Given the description of an element on the screen output the (x, y) to click on. 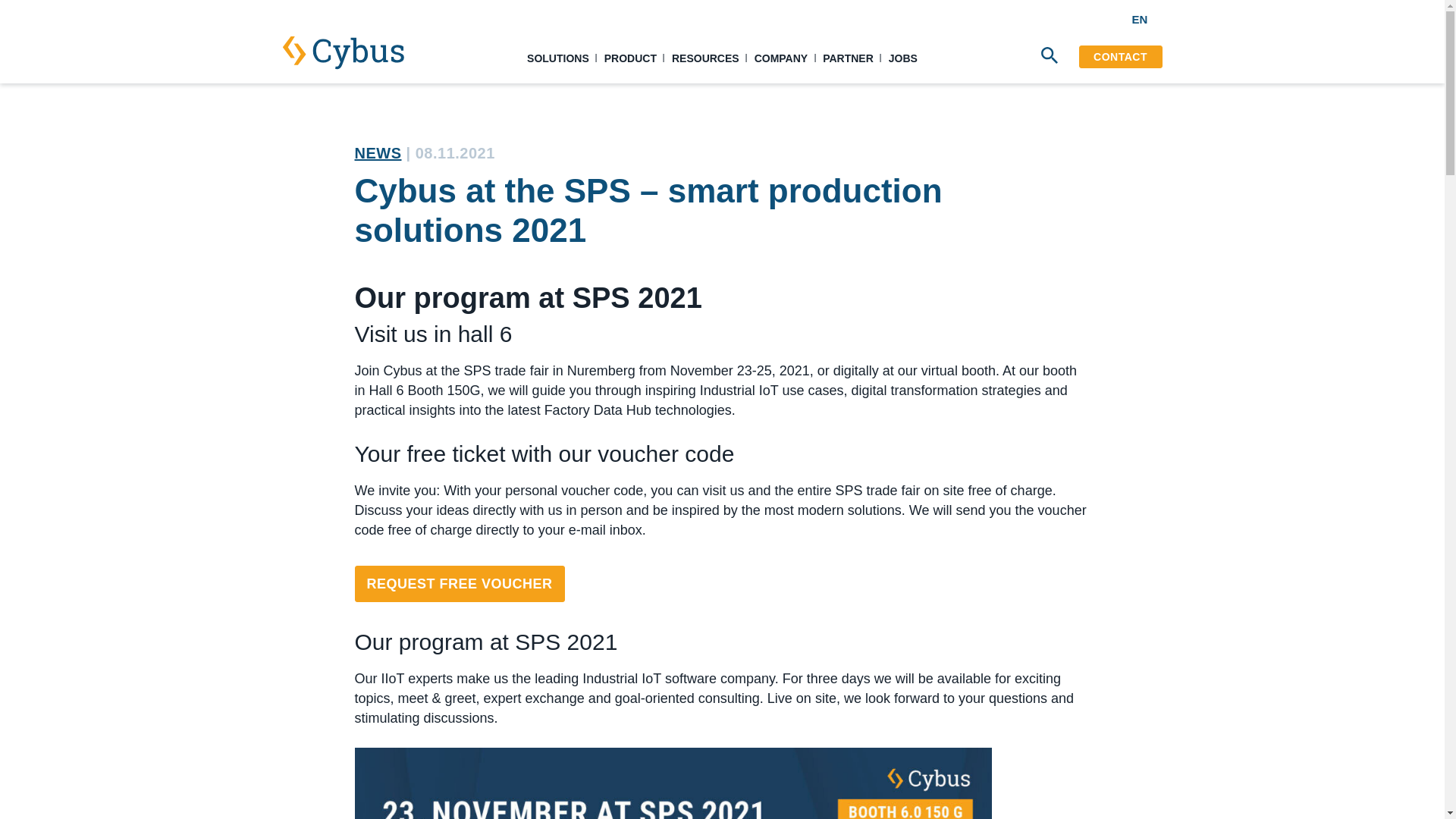
CONTACT (1119, 56)
PARTNER (847, 58)
SOLUTIONS (557, 58)
COMPANY (780, 58)
REQUEST FREE VOUCHER (459, 583)
PRODUCT (629, 58)
LinkedIn (1022, 19)
EN (1146, 19)
Xing (1084, 19)
NEWS (378, 152)
